Given the description of an element on the screen output the (x, y) to click on. 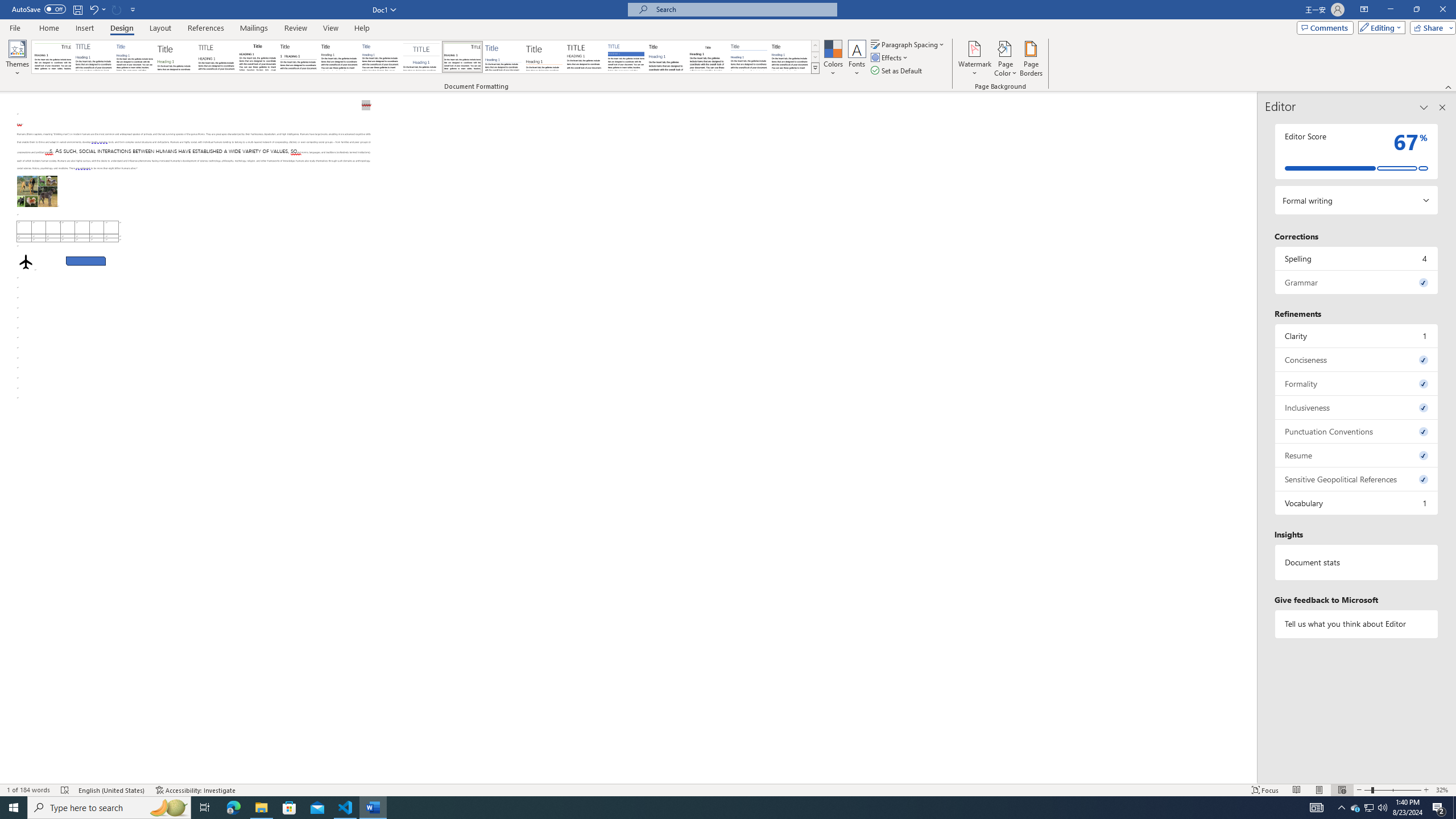
Editor Score 67% (1356, 151)
Clarity, 1 issue. Press space or enter to review items. (1356, 335)
Conciseness, 0 issues. Press space or enter to review items. (1356, 359)
Fonts (856, 58)
Word Count 1 of 184 words (28, 790)
Centered (421, 56)
Watermark (974, 58)
